Given the description of an element on the screen output the (x, y) to click on. 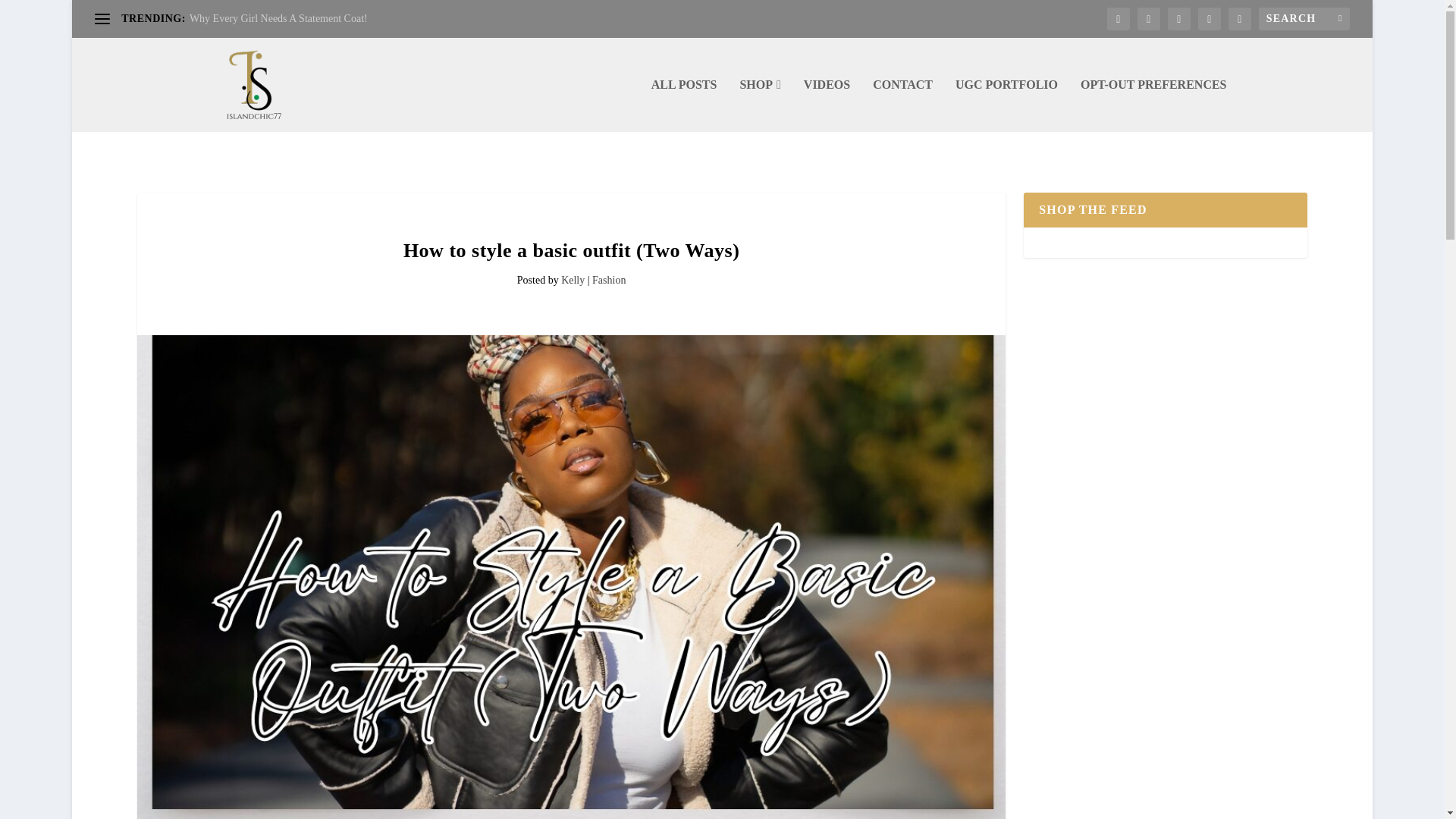
UGC PORTFOLIO (1006, 104)
Kelly (572, 279)
Why Every Girl Needs A Statement Coat! (278, 18)
Fashion (609, 279)
OPT-OUT PREFERENCES (1152, 104)
CONTACT (902, 104)
ALL POSTS (683, 104)
Posts by Kelly (572, 279)
